Given the description of an element on the screen output the (x, y) to click on. 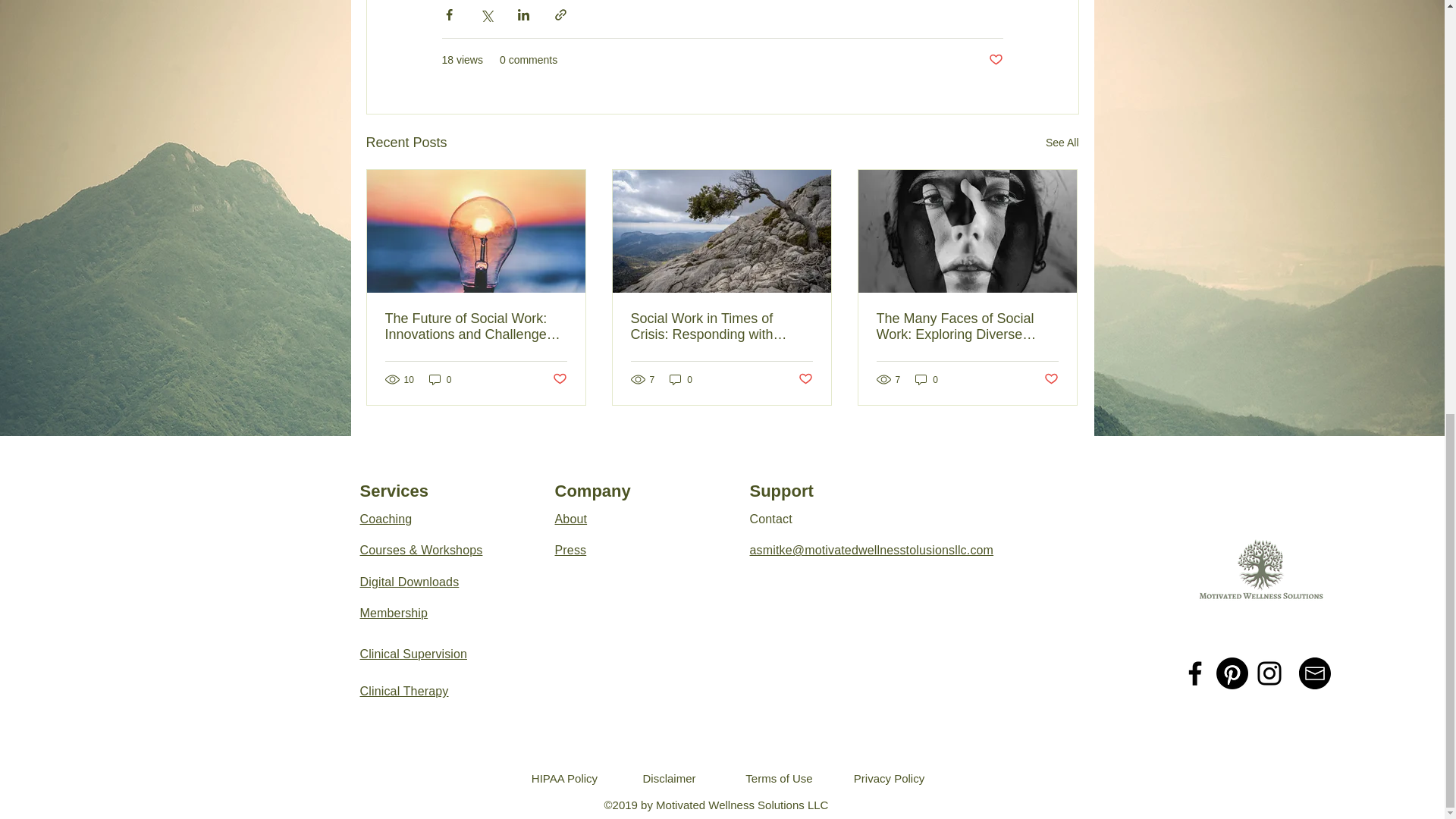
Membership (393, 612)
Social Work in Times of Crisis: Responding with Resilience (721, 327)
Coaching (385, 518)
About (571, 518)
Post not marked as liked (558, 379)
Post not marked as liked (995, 59)
Digital Downloads (408, 581)
The Future of Social Work: Innovations and Challenges Ahead (476, 327)
0 (926, 379)
Clinical Supervision (412, 653)
Clinical Therapy (403, 690)
0 (440, 379)
Post not marked as liked (1050, 379)
0 (681, 379)
